Given the description of an element on the screen output the (x, y) to click on. 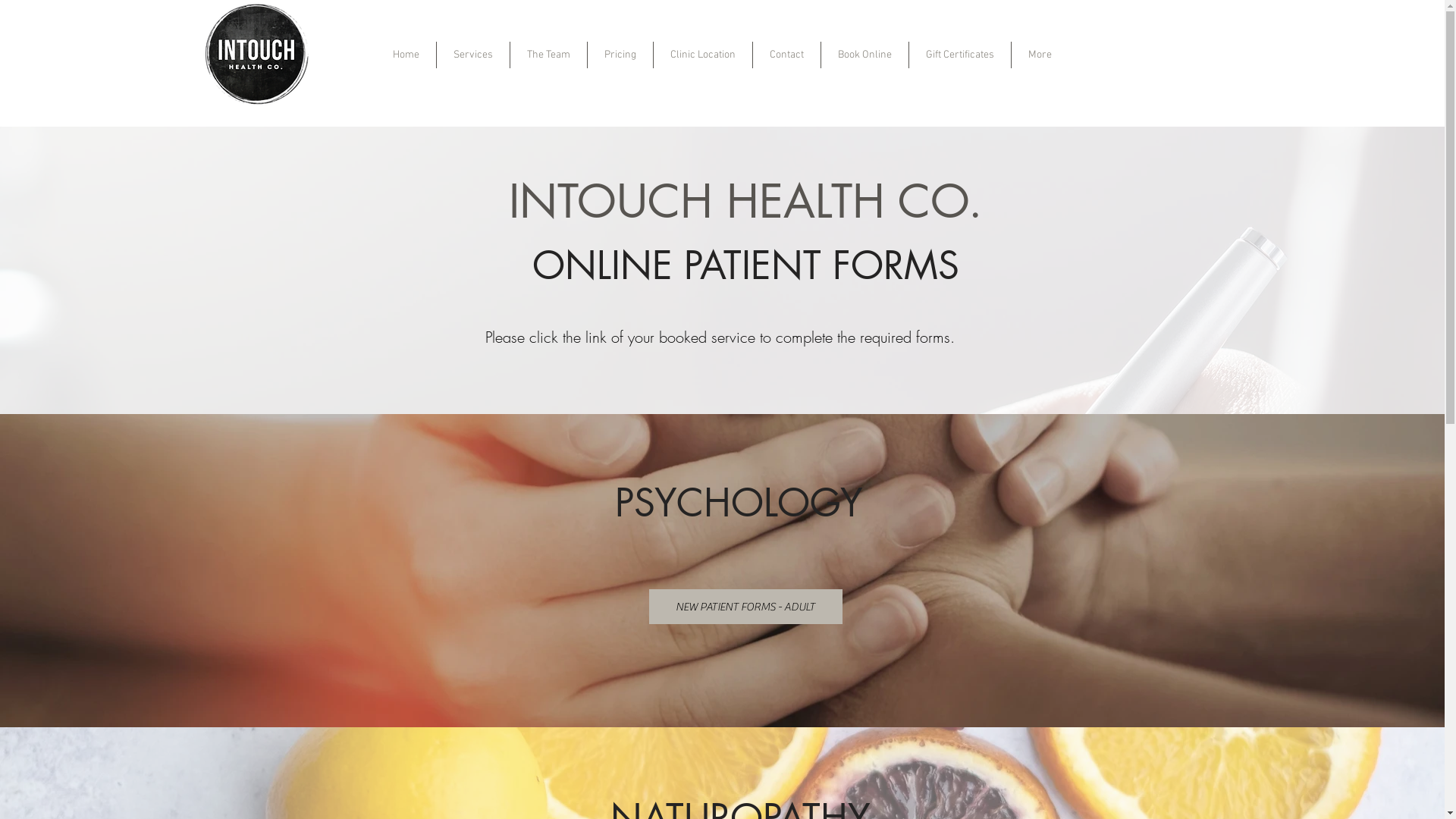
Contact Element type: text (786, 54)
The Team Element type: text (548, 54)
INTOUCH HEALTH CO. - NEW LOGO  black circle.png Element type: hover (254, 53)
Gift Certificates Element type: text (959, 54)
Book Online Element type: text (864, 54)
Home Element type: text (406, 54)
NEW PATIENT FORMS - ADULT Element type: text (745, 606)
Clinic Location Element type: text (702, 54)
